Given the description of an element on the screen output the (x, y) to click on. 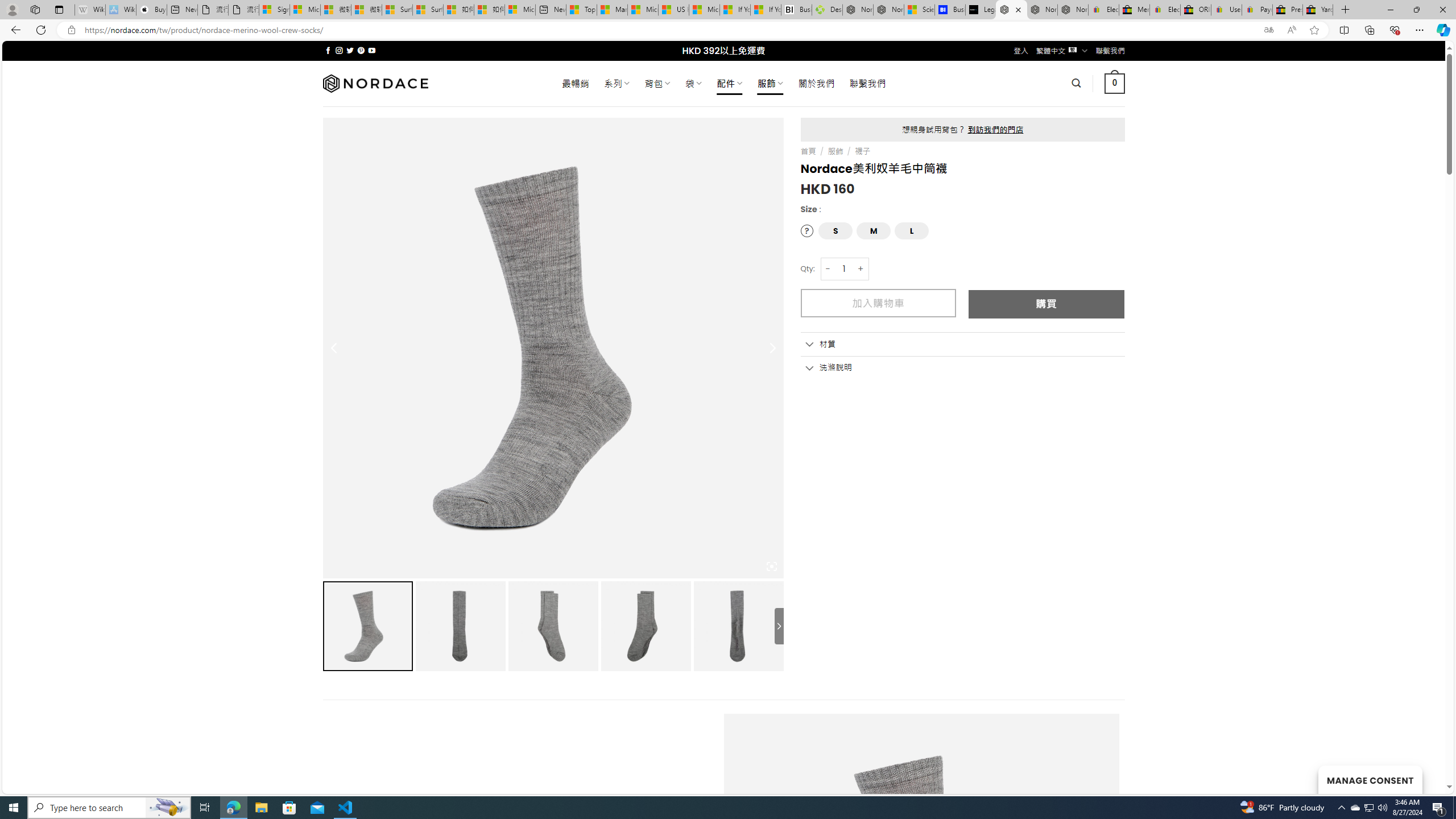
- (827, 268)
Descarga Driver Updater (826, 9)
 0  (1115, 83)
Follow on Instagram (338, 50)
